Given the description of an element on the screen output the (x, y) to click on. 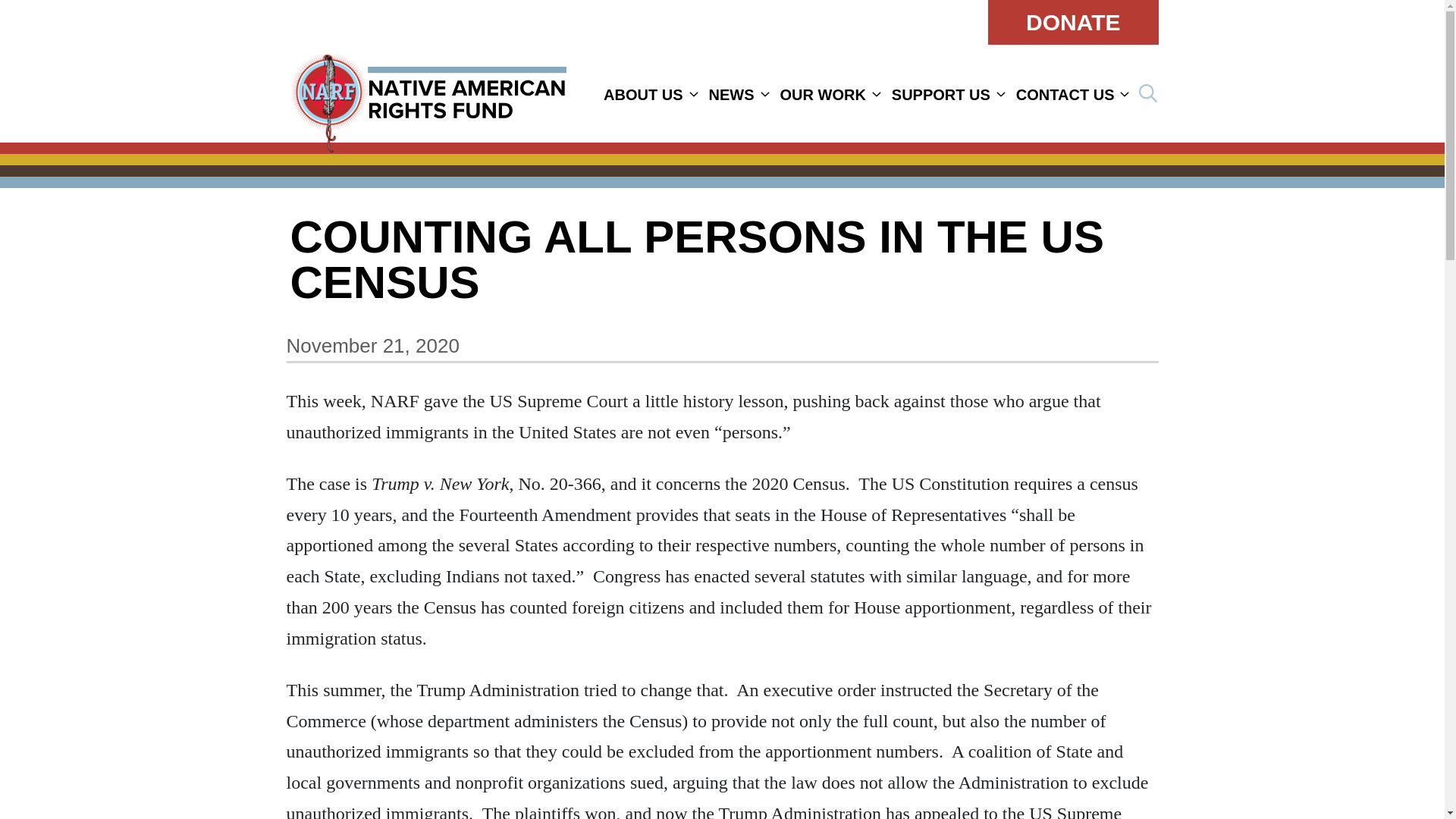
Native American Rights Fund (427, 93)
ABOUT US (643, 94)
DONATE (1072, 22)
NEWS (730, 94)
